Given the description of an element on the screen output the (x, y) to click on. 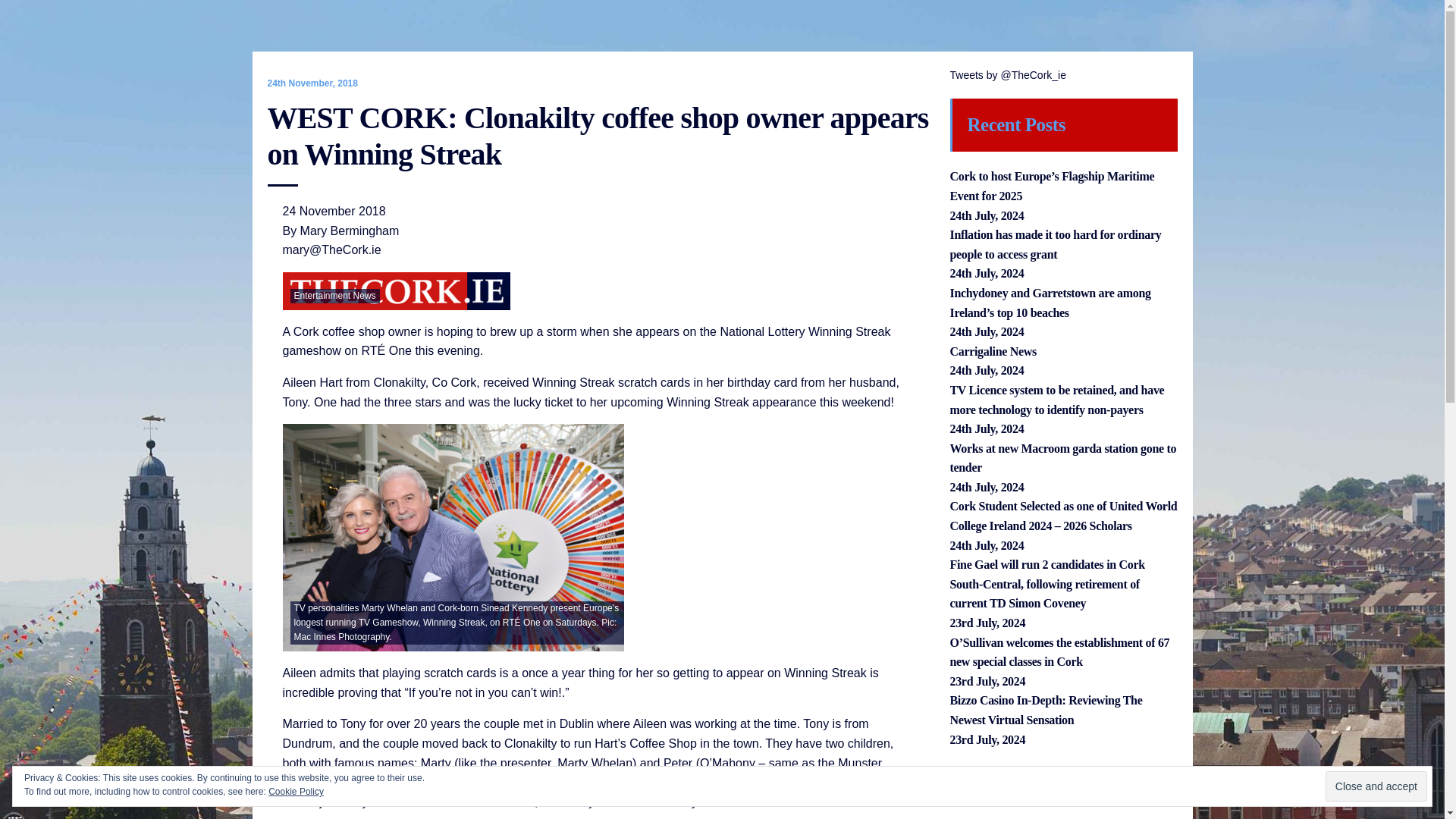
Close and accept (1375, 786)
